Given the description of an element on the screen output the (x, y) to click on. 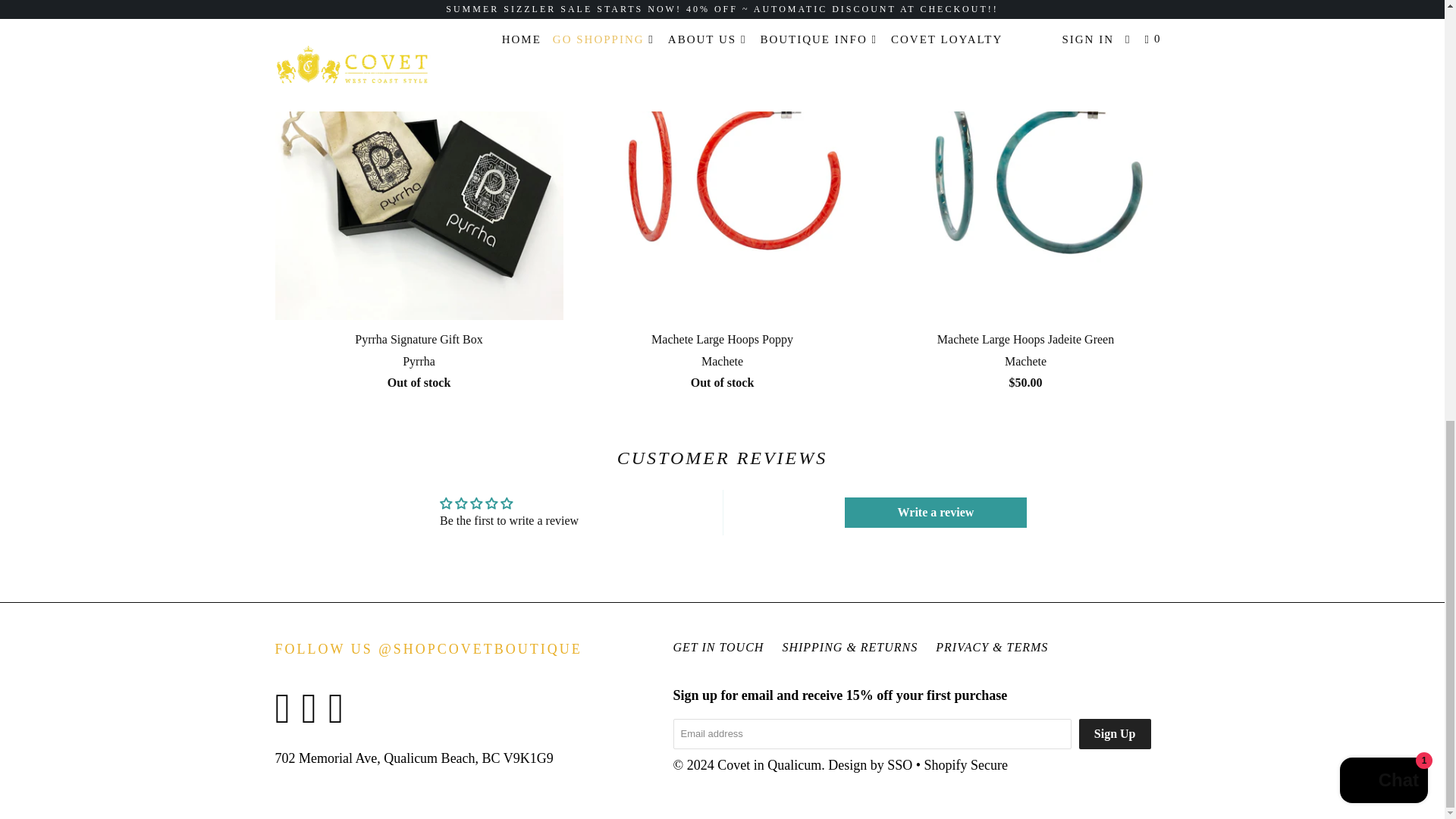
Sign Up (1114, 734)
